Given the description of an element on the screen output the (x, y) to click on. 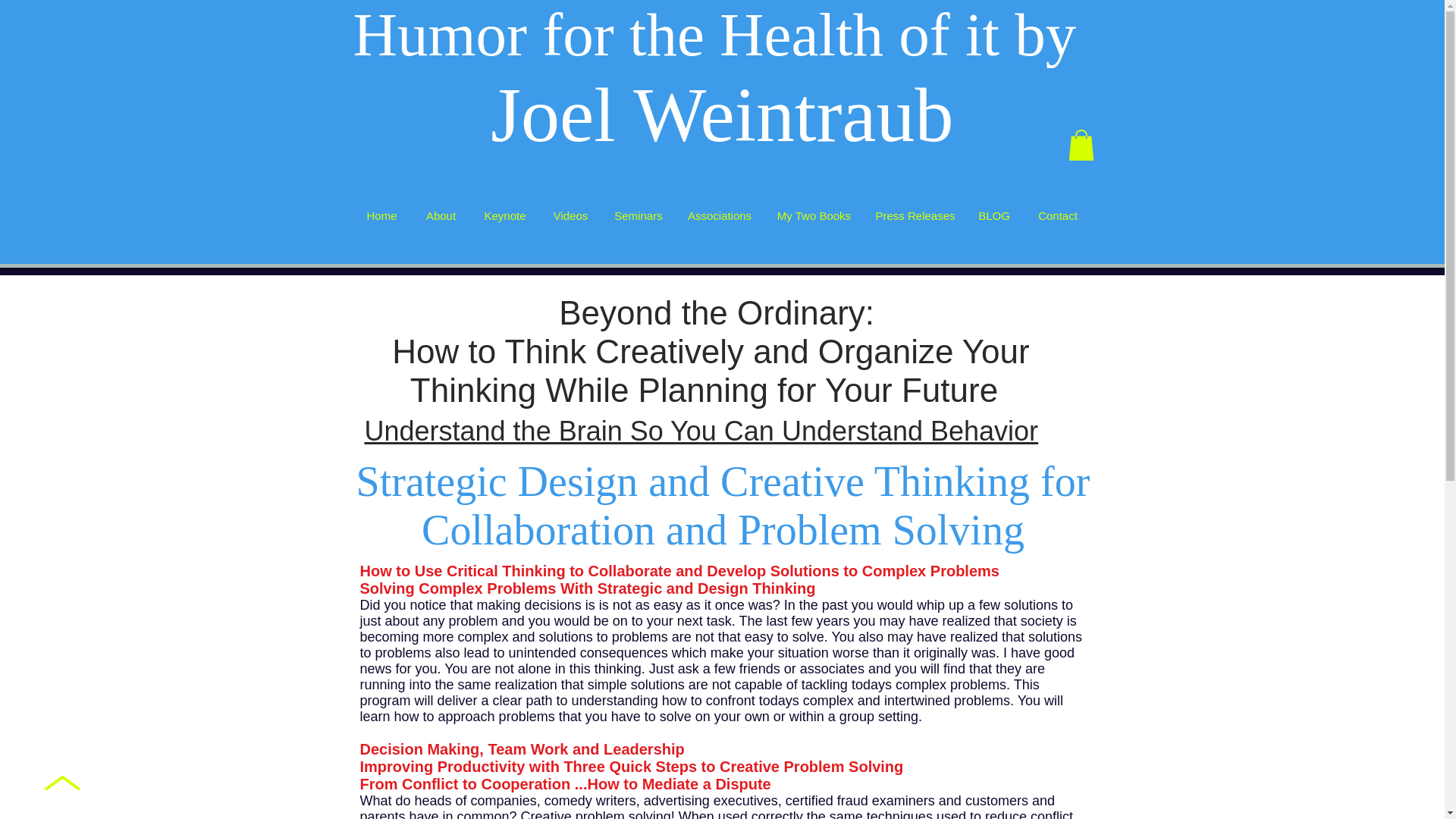
Joel Weintraub (721, 115)
About (440, 215)
Home (381, 215)
Humor for the Health of it by  (721, 34)
Videos (571, 215)
Keynote (504, 215)
